Given the description of an element on the screen output the (x, y) to click on. 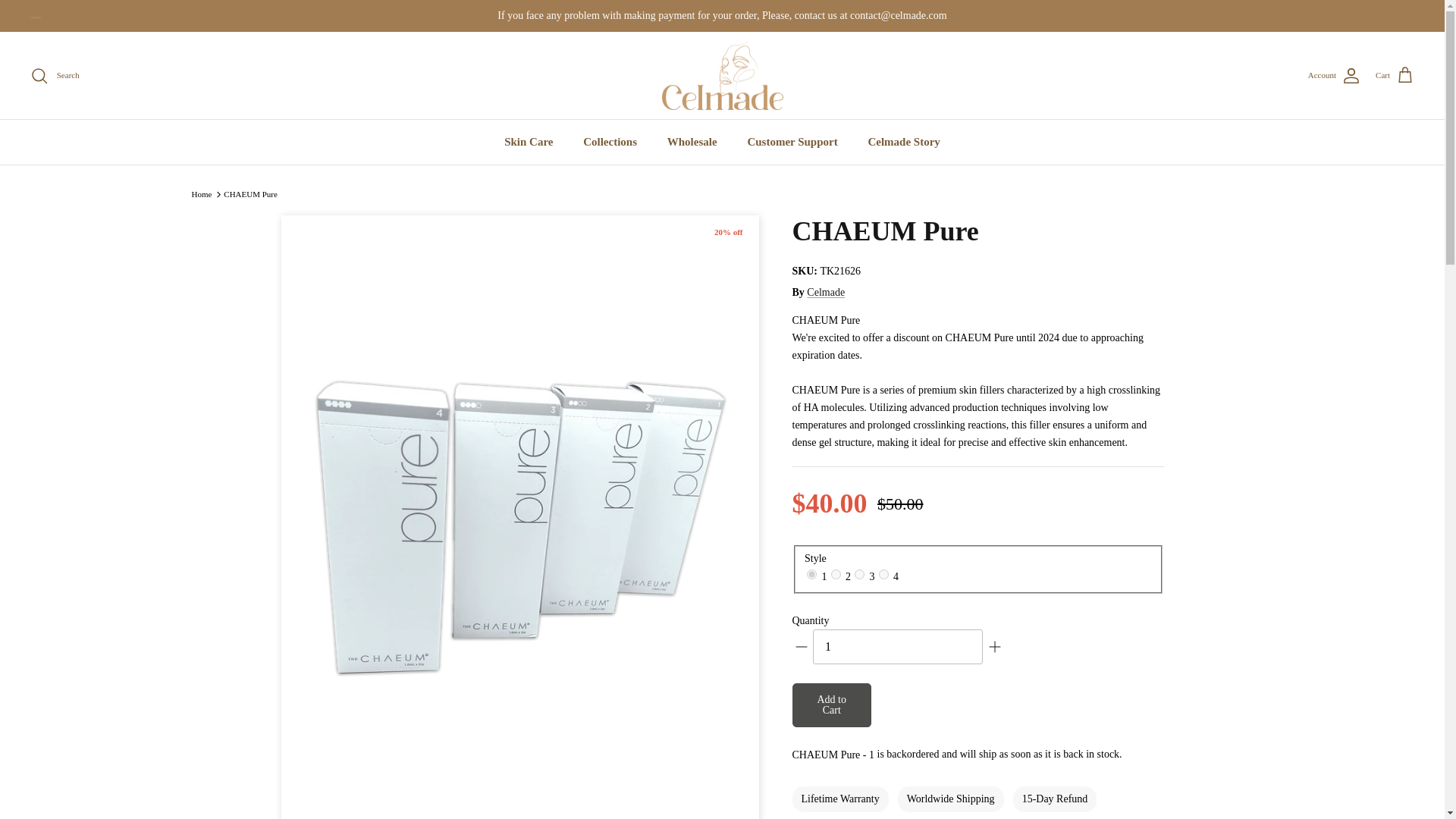
2 (836, 574)
Celmade (722, 75)
1 (811, 574)
Skin Care (528, 141)
1 (897, 646)
Wholesale (691, 141)
Cart (1394, 75)
Search (55, 75)
Collections (609, 141)
Plus (994, 647)
Minus (800, 647)
Celmade Story (903, 141)
Account (1333, 75)
4 (882, 574)
3 (859, 574)
